Given the description of an element on the screen output the (x, y) to click on. 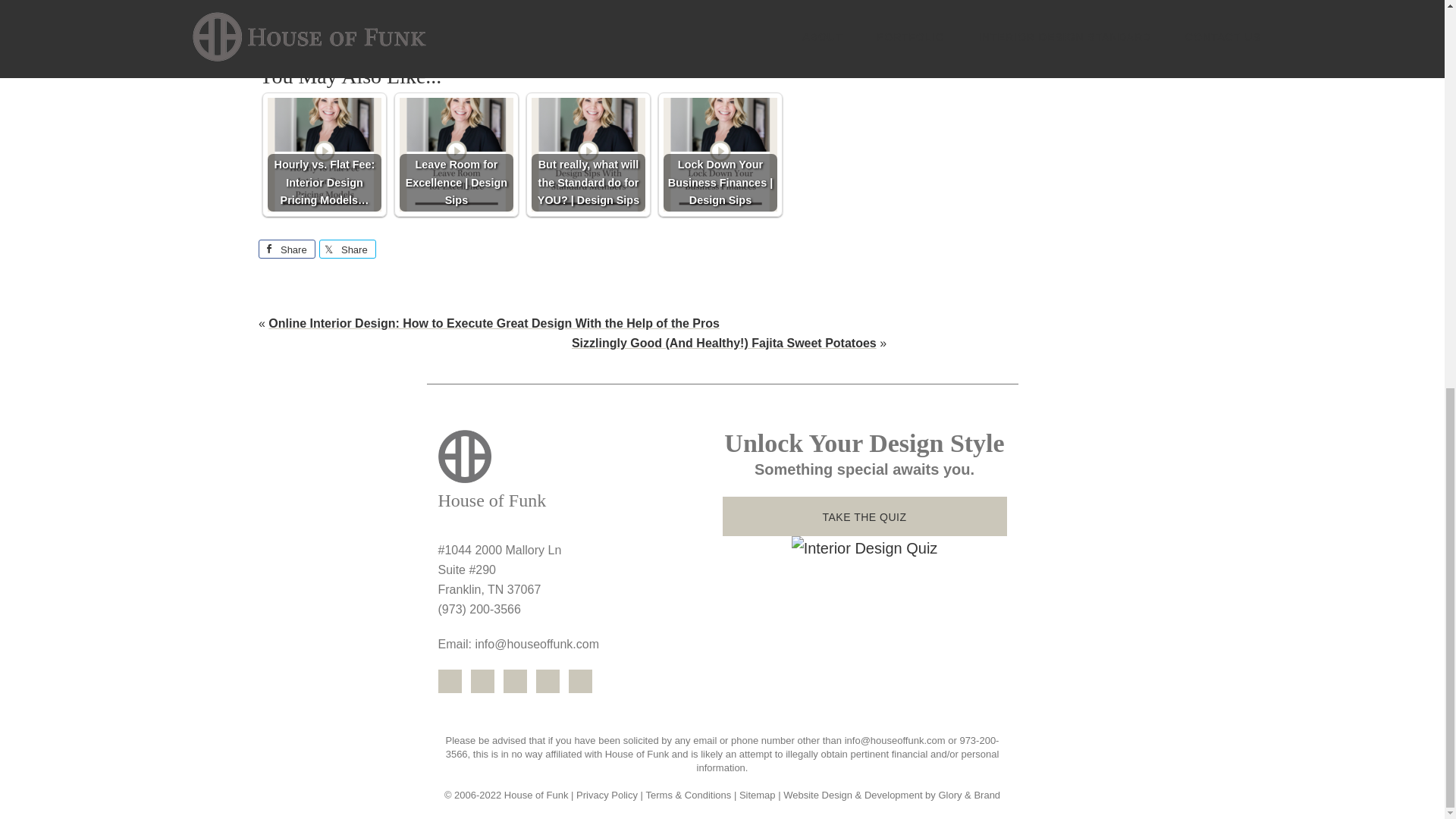
Share (346, 248)
House of Funk (580, 470)
Share (287, 248)
